Given the description of an element on the screen output the (x, y) to click on. 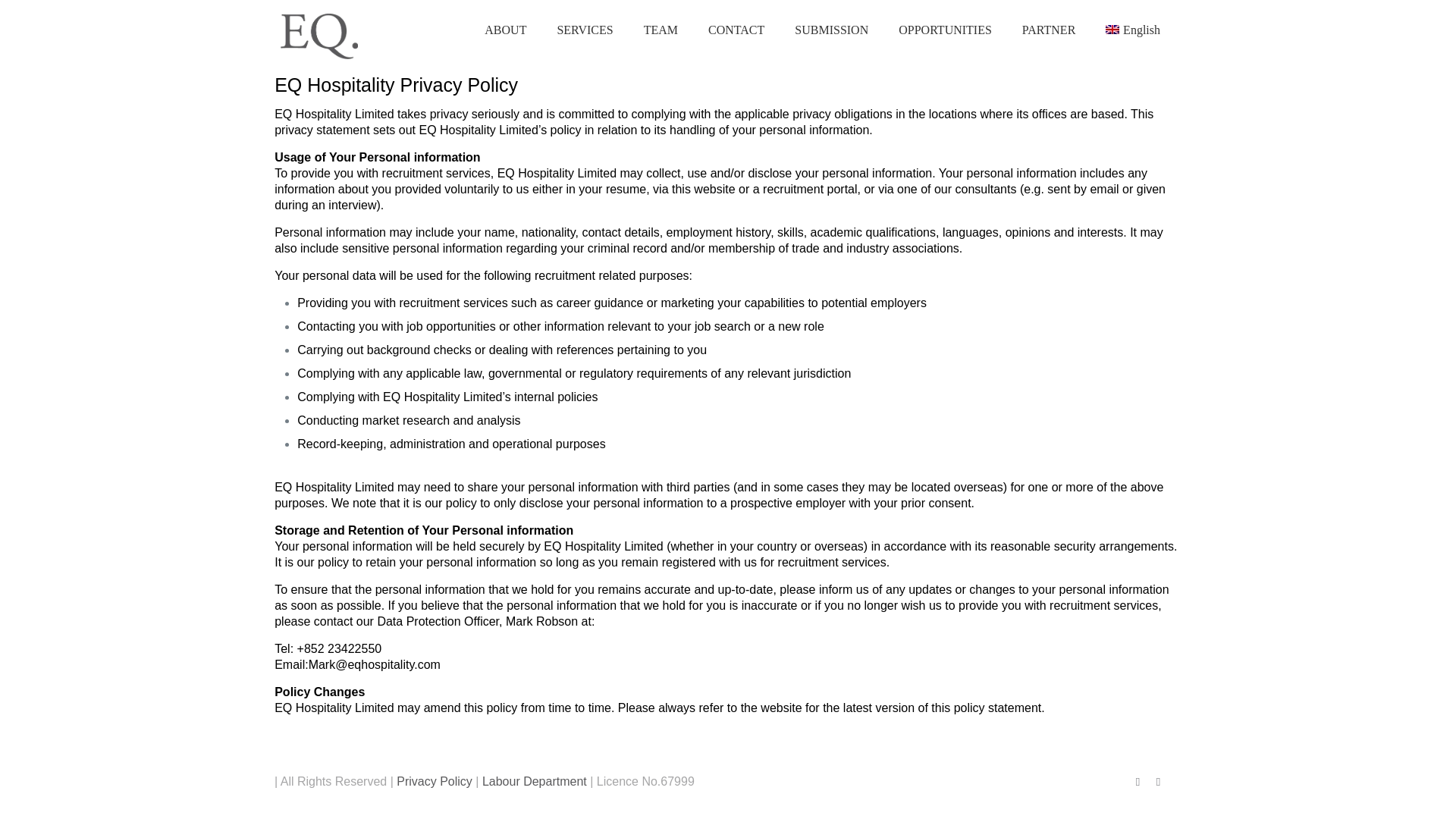
English (1132, 30)
TEAM (660, 30)
OPPORTUNITIES (945, 30)
SUBMISSION (830, 30)
EQ (319, 54)
English (1132, 30)
PARTNER (1048, 30)
CONTACT (735, 30)
SERVICES (584, 30)
Labour Department (533, 780)
